Given the description of an element on the screen output the (x, y) to click on. 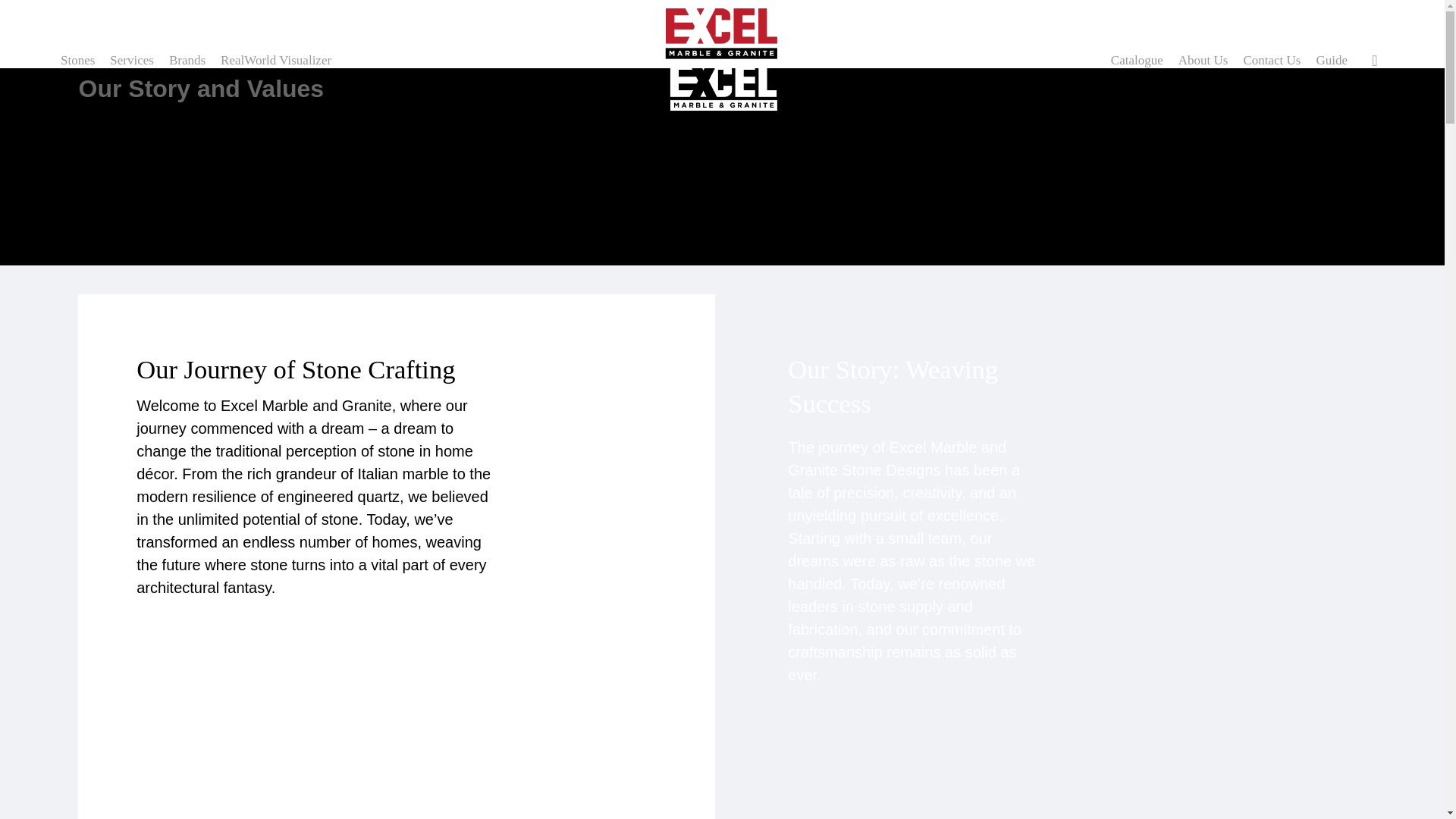
Brands (186, 60)
About Us (1203, 60)
Catalogue (1136, 60)
RealWorld Visualizer (275, 60)
Contact Us (1270, 60)
Stones (81, 60)
Services (131, 60)
